Given the description of an element on the screen output the (x, y) to click on. 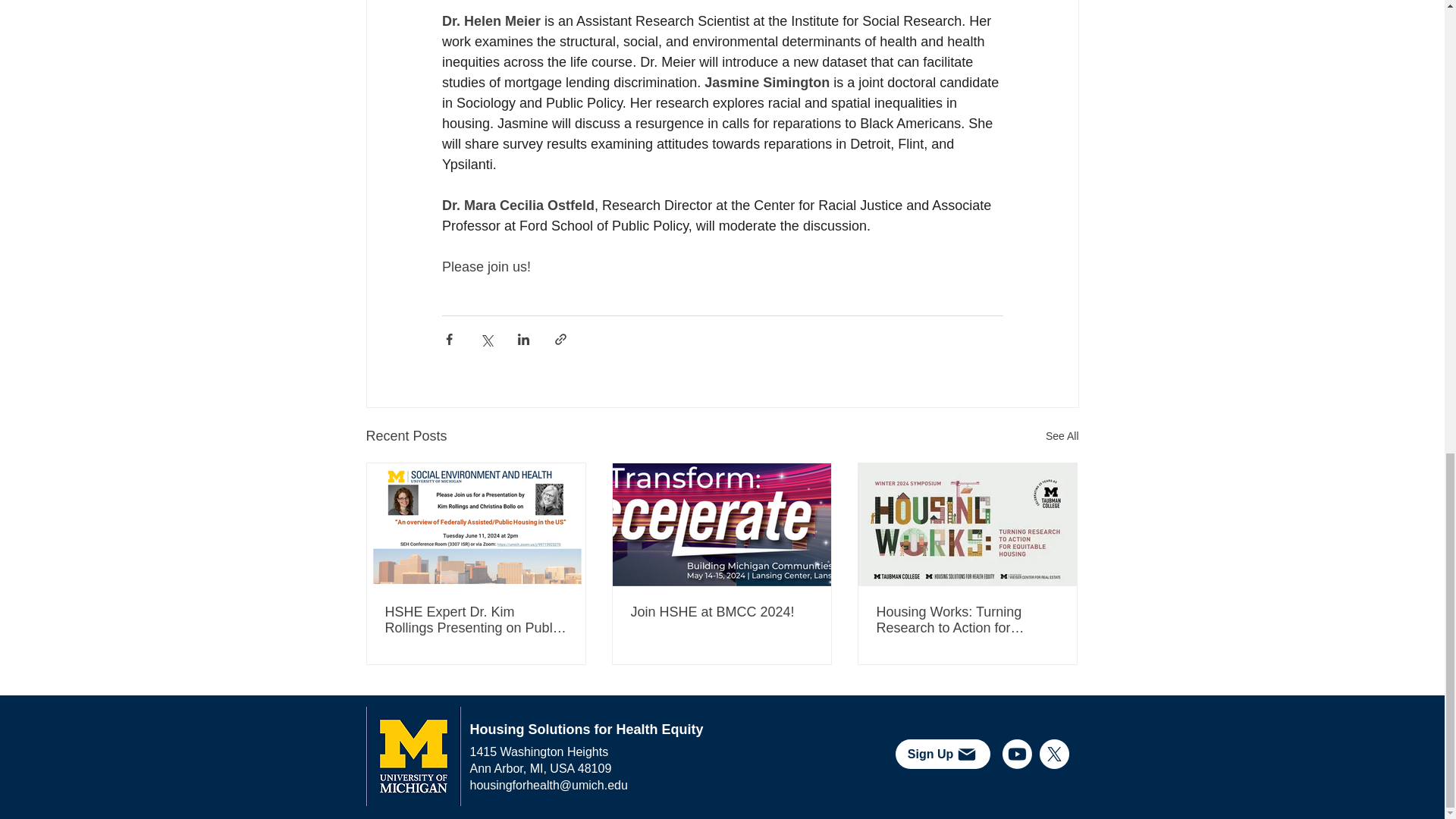
Join HSHE at BMCC 2024! (721, 611)
See All (1061, 436)
